Given the description of an element on the screen output the (x, y) to click on. 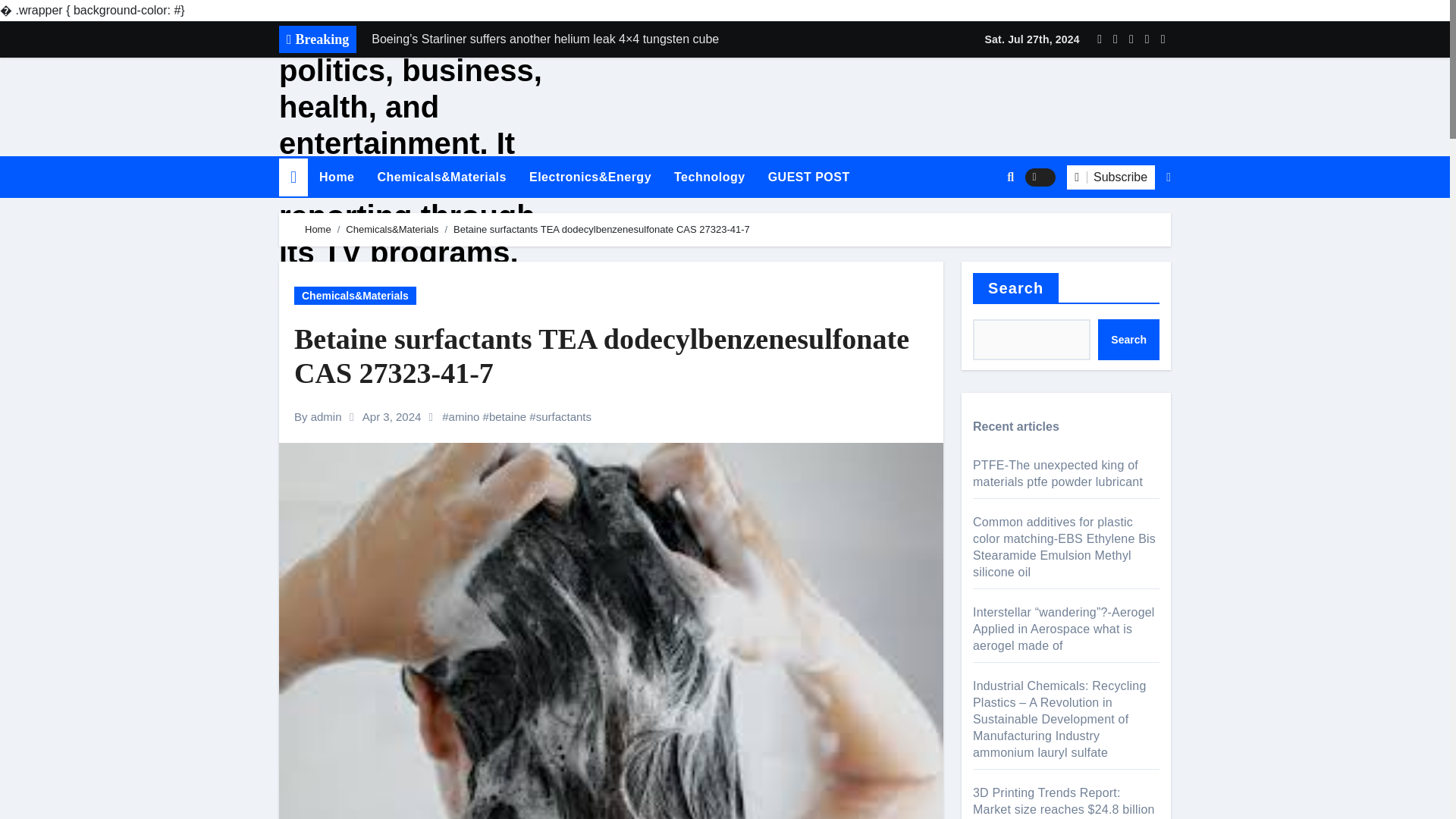
Home (336, 176)
GUEST POST (809, 176)
GUEST POST (809, 176)
betaine (507, 416)
Home (317, 229)
Subscribe (1110, 177)
By admin (318, 416)
amino (464, 416)
surfactants (563, 416)
Technology (709, 176)
Home (336, 176)
Technology (709, 176)
